Given the description of an element on the screen output the (x, y) to click on. 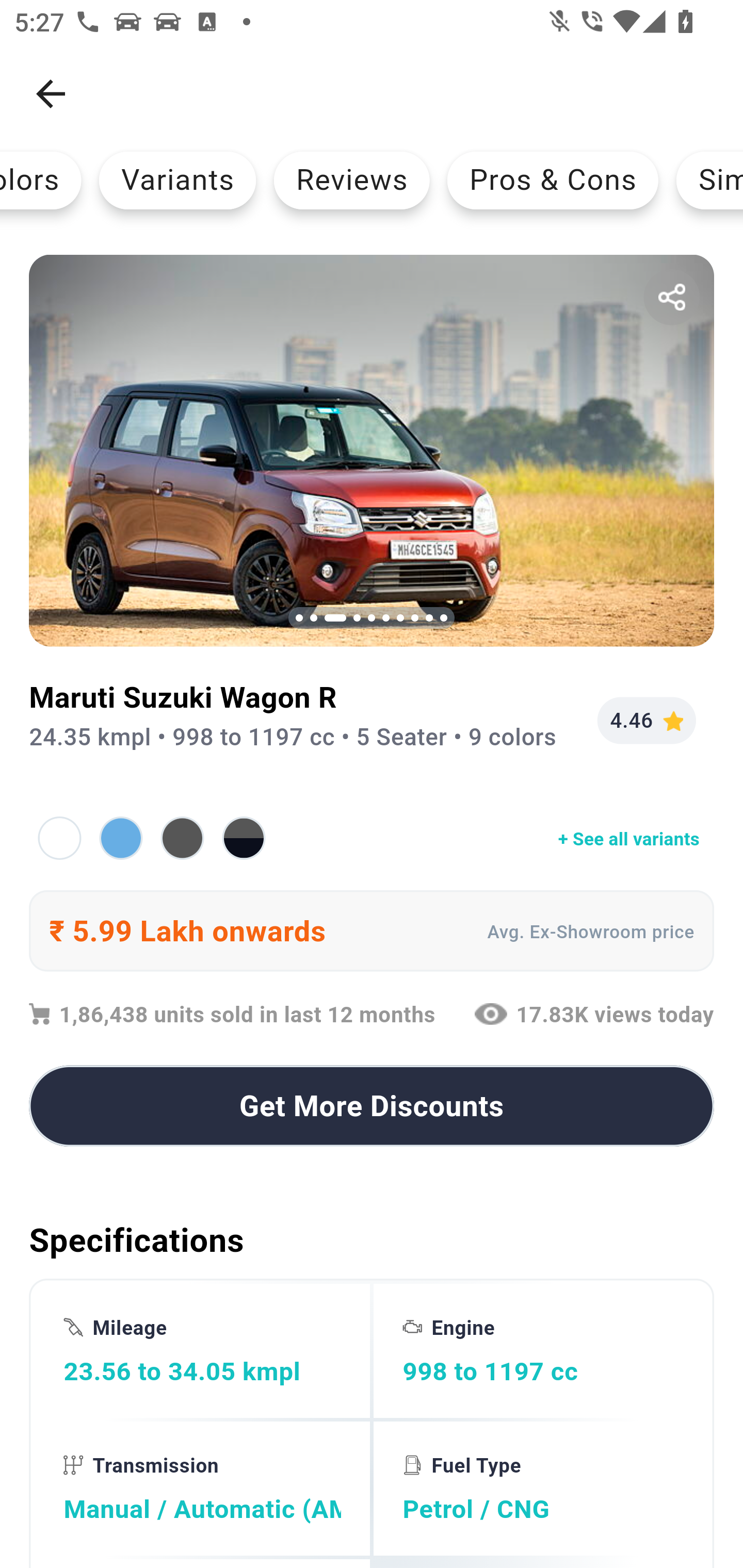
Back (50, 93)
Variants (176, 180)
Reviews (351, 180)
Pros & Cons (552, 180)
+ See all variants (371, 837)
Mileage 23.56 to 34.05 kmpl (202, 1350)
Engine 998 to 1197 cc (540, 1350)
Transmission Manual / Automatic (AMT) (202, 1488)
Fuel Type Petrol / CNG (540, 1488)
